Given the description of an element on the screen output the (x, y) to click on. 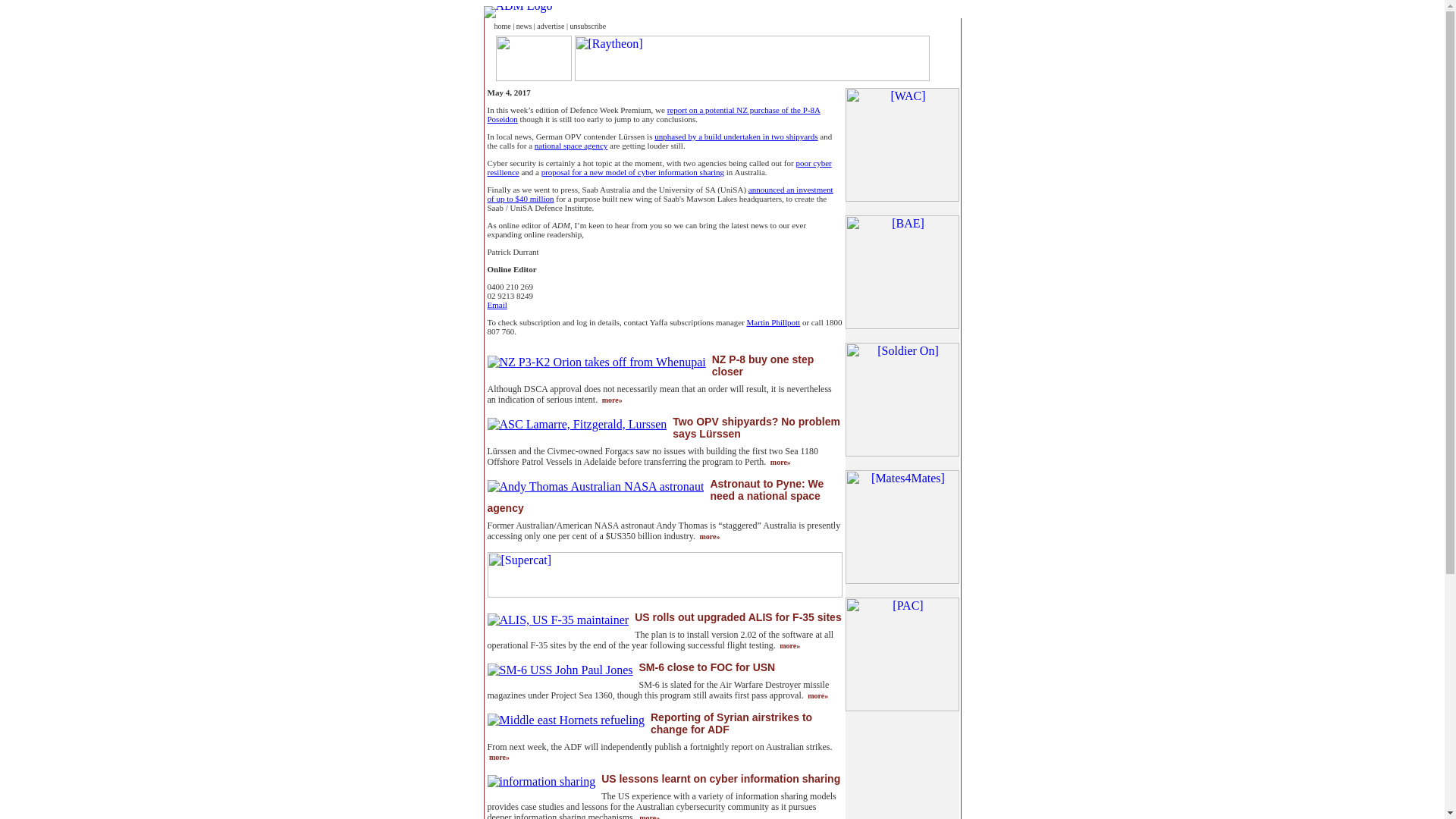
Andy Thomas Australian NASA astronaut (594, 486)
national space agency (571, 144)
US rolls out upgraded ALIS for F-35 sites (737, 616)
poor cyber resilience (658, 167)
unphased by a build undertaken in two shipyards (734, 135)
Email (496, 304)
advertise (550, 25)
Reporting of Syrian airstrikes to change for ADF (731, 723)
unsubscribe (587, 25)
Middle east Hornets refueling (565, 720)
SM-6 USS John Paul Jones (558, 670)
home (503, 25)
ALIS, US F-35 maintainer (557, 620)
report on a potential NZ purchase of the P-8A Poseidon (652, 114)
information sharing (540, 781)
